Given the description of an element on the screen output the (x, y) to click on. 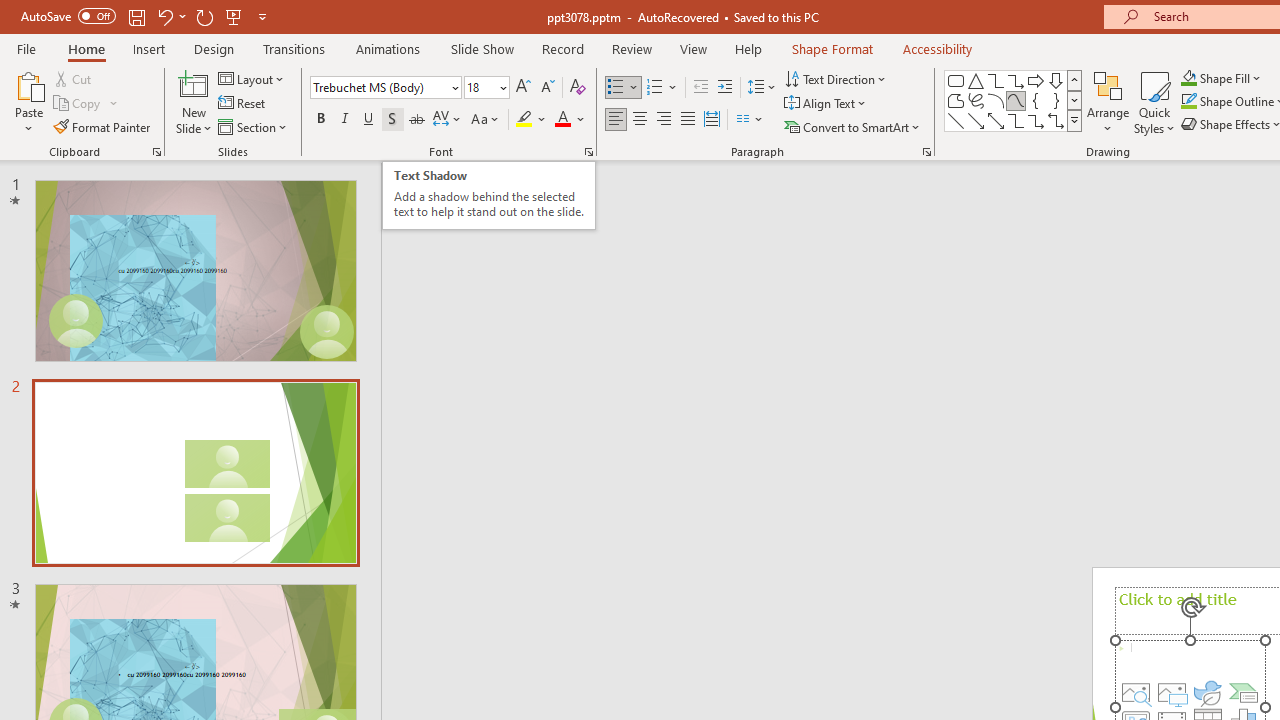
Connector: Elbow Double-Arrow (1055, 120)
